Given the description of an element on the screen output the (x, y) to click on. 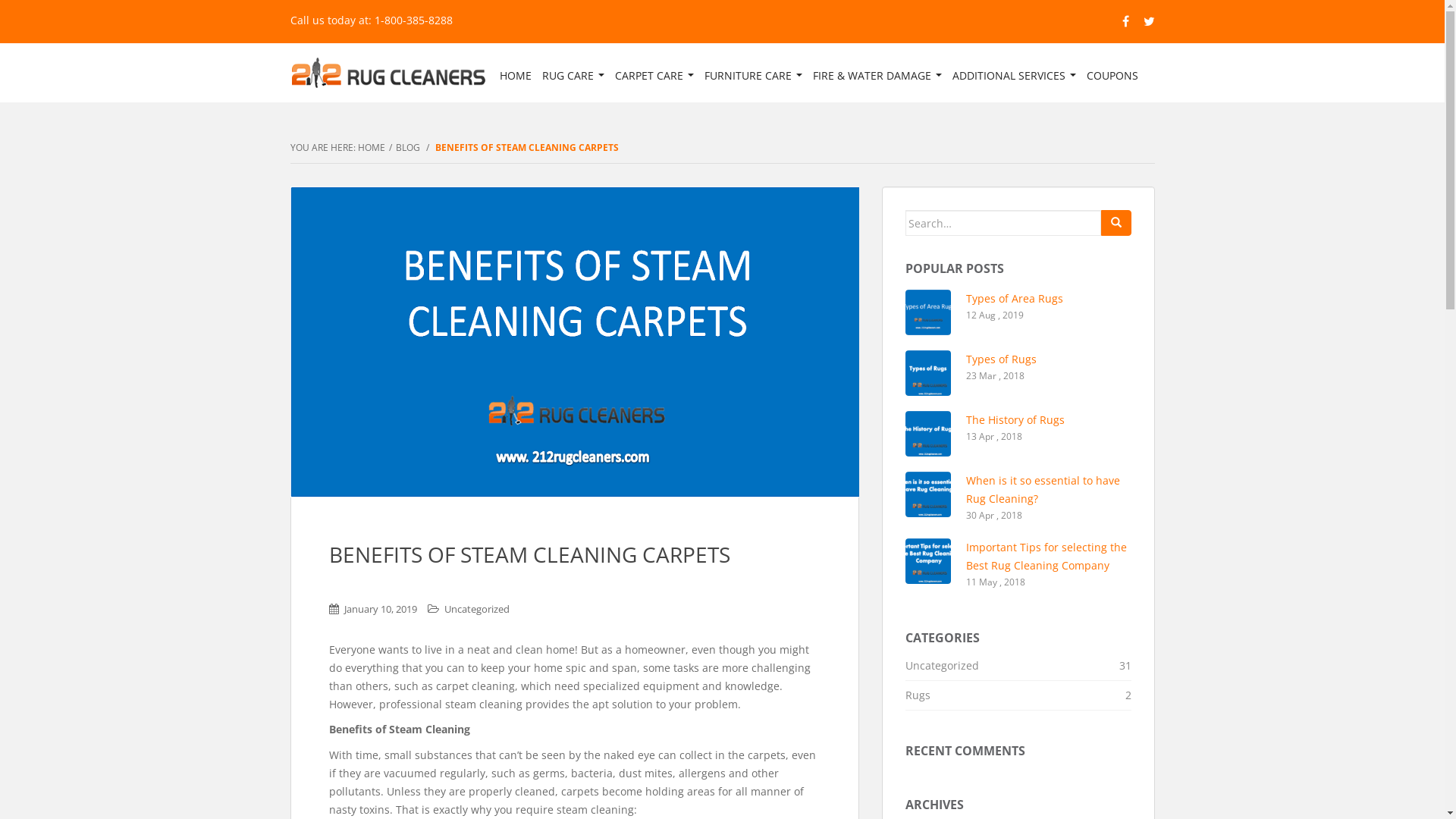
Search Element type: text (1116, 222)
HOME Element type: text (515, 75)
Uncategorized Element type: text (942, 665)
BLOG Element type: text (407, 147)
HOME Element type: text (371, 147)
January 10, 2019 Element type: text (380, 608)
The History of Rugs Element type: text (1015, 419)
ADDITIONAL SERVICES Element type: text (1013, 75)
RUG CARE Element type: text (572, 75)
COUPONS Element type: text (1112, 75)
Search for: Element type: hover (1003, 222)
Important Tips for selecting the Best Rug Cleaning Company Element type: text (1046, 555)
Types of Area Rugs Element type: text (1014, 298)
FIRE & WATER DAMAGE Element type: text (876, 75)
When is it so essential to have Rug Cleaning? Element type: text (1043, 489)
Types of Rugs Element type: text (1001, 358)
Rugs Element type: text (917, 694)
Uncategorized Element type: text (476, 608)
FURNITURE CARE Element type: text (753, 75)
CARPET CARE Element type: text (654, 75)
